Given the description of an element on the screen output the (x, y) to click on. 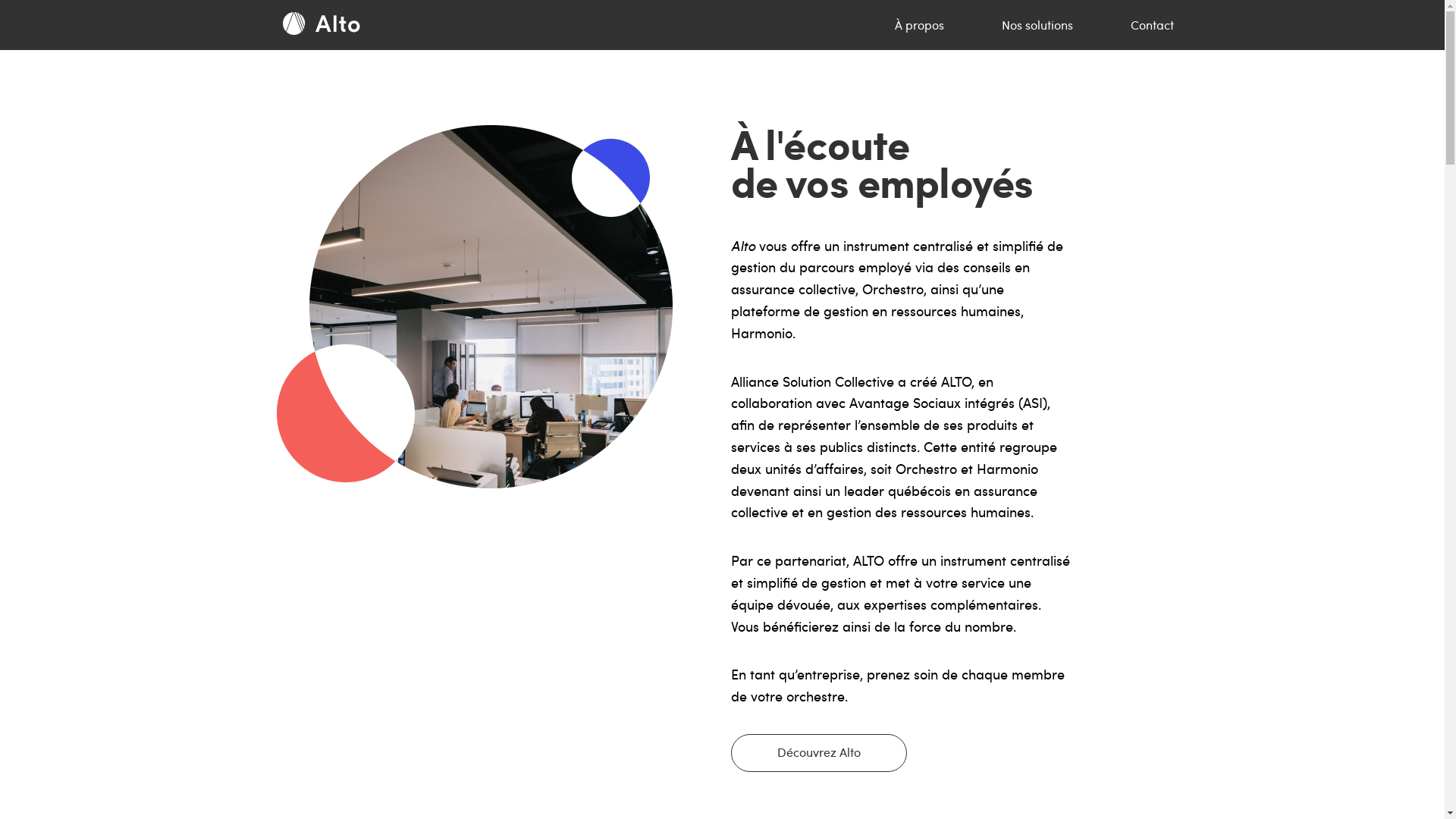
Nos solutions Element type: text (1036, 25)
Contact Element type: text (1151, 25)
